Given the description of an element on the screen output the (x, y) to click on. 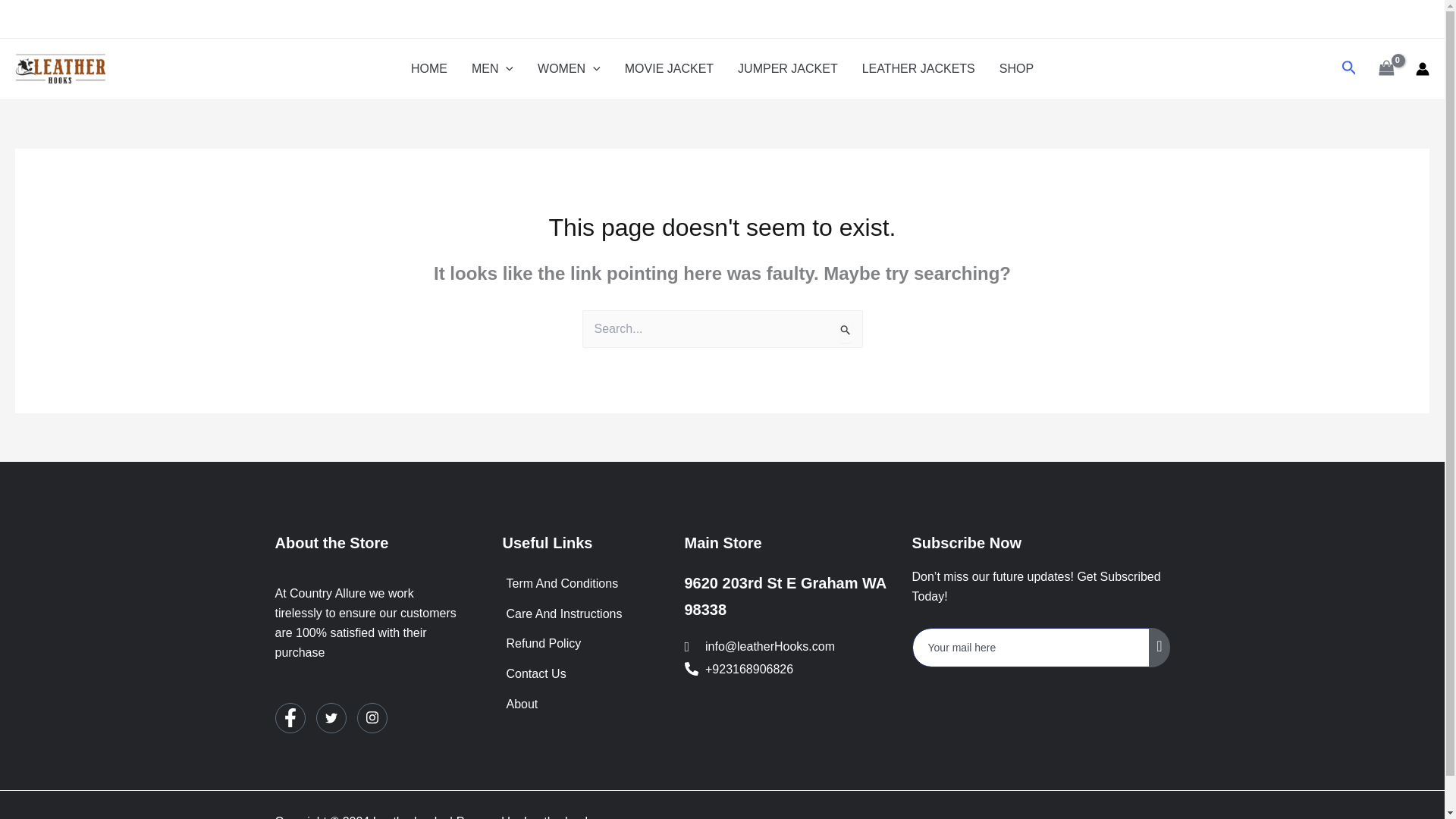
HOME (429, 68)
SHOP (1016, 68)
LEATHER JACKETS (918, 68)
MEN (492, 68)
MOVIE JACKET (668, 68)
JUMPER JACKET (787, 68)
WOMEN (568, 68)
